Given the description of an element on the screen output the (x, y) to click on. 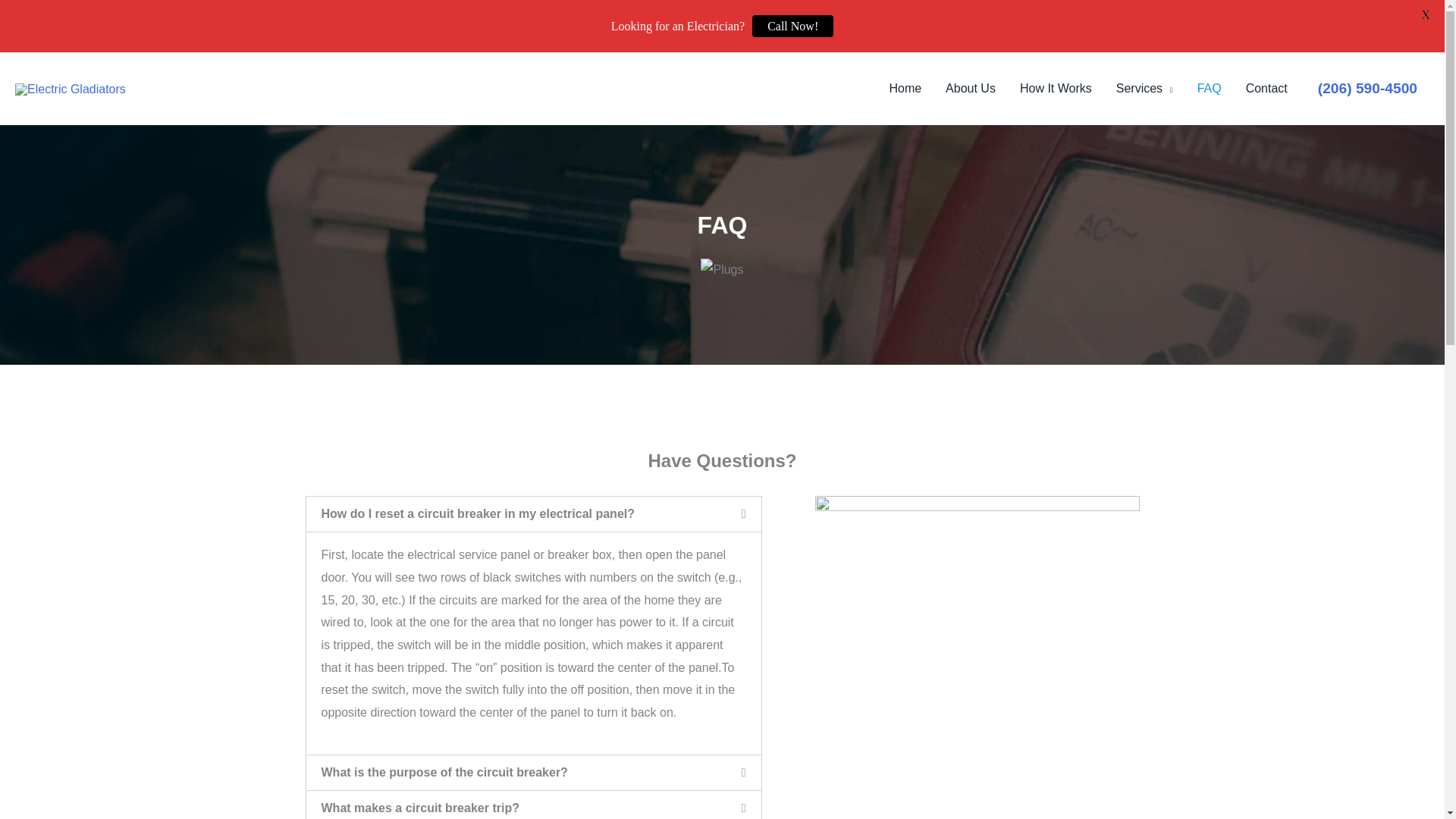
Contact (1266, 88)
FAQ (1209, 88)
Home (904, 88)
Services (1144, 88)
How It Works (1055, 88)
About Us (970, 88)
What is the purpose of the circuit breaker? (444, 771)
What makes a circuit breaker trip? (420, 807)
How do I reset a circuit breaker in my electrical panel? (477, 513)
Plugs (721, 269)
